Given the description of an element on the screen output the (x, y) to click on. 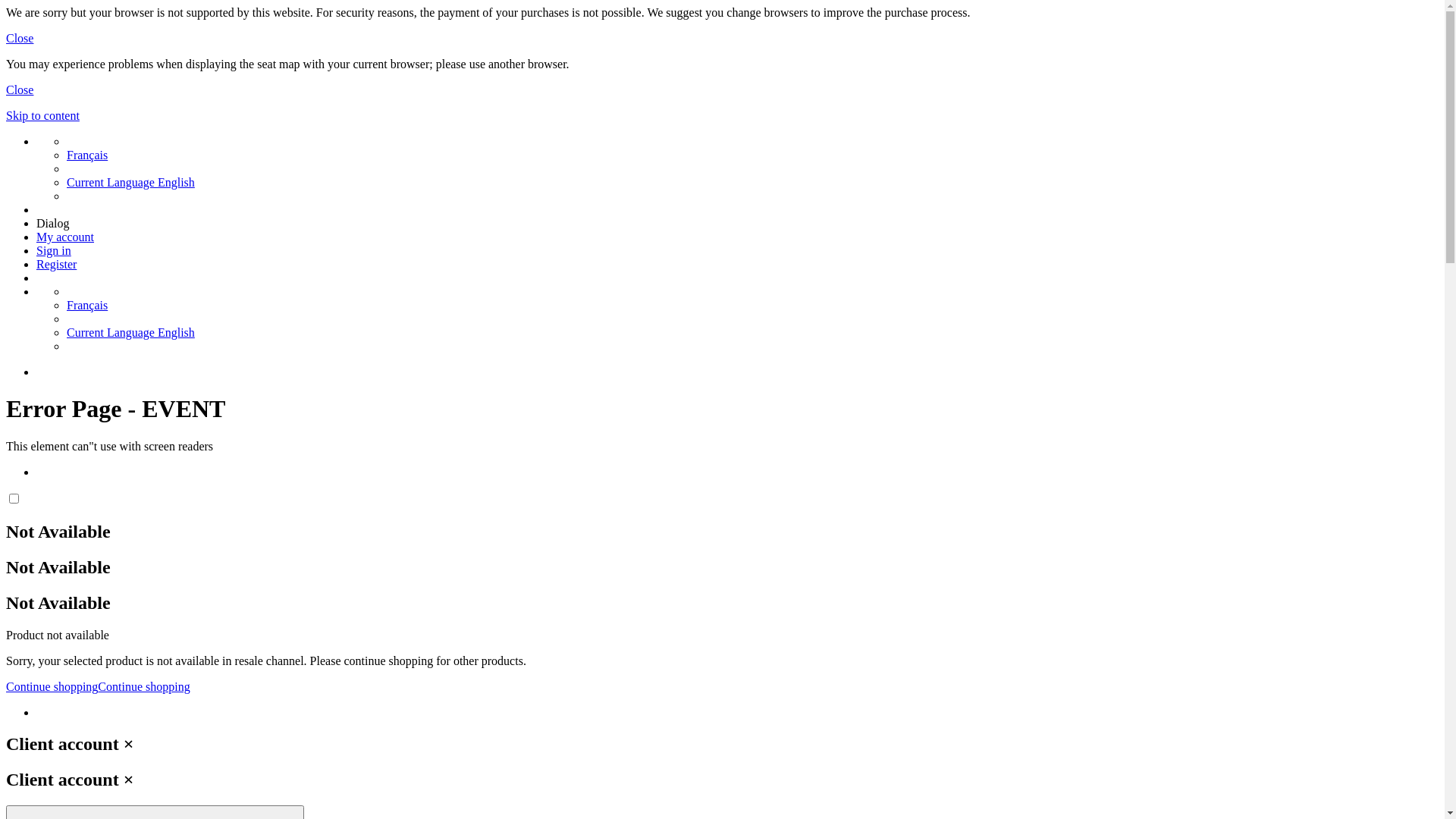
Sign in Element type: text (53, 250)
Close Element type: text (19, 37)
My account Element type: text (65, 236)
Skip to content Element type: text (42, 115)
Current Language English Element type: text (130, 332)
Current Language English Element type: text (130, 181)
Register Element type: text (56, 263)
Close Element type: text (19, 89)
Continue shoppingContinue shopping Element type: text (98, 685)
